Given the description of an element on the screen output the (x, y) to click on. 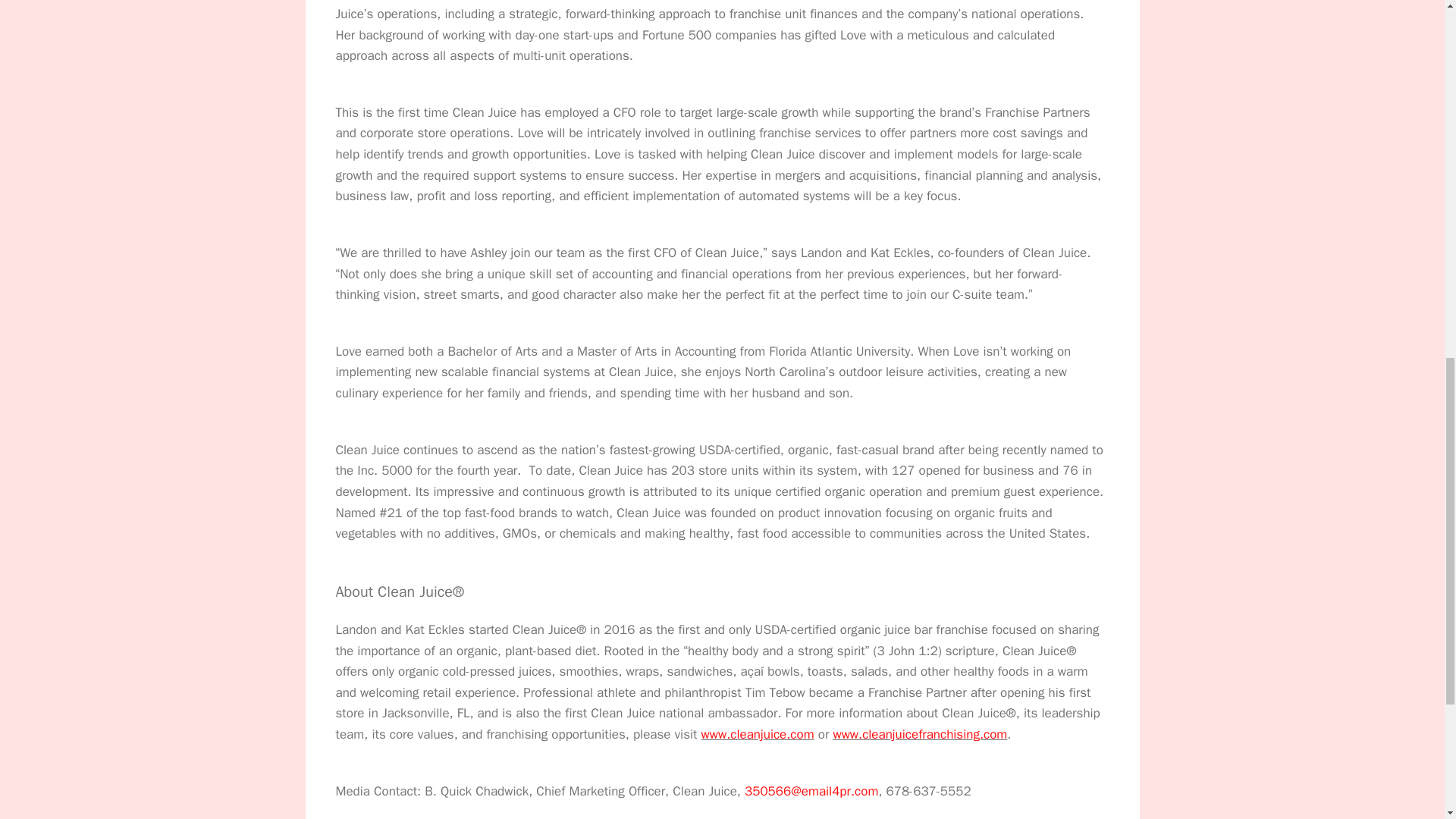
www.cleanjuice.com (757, 734)
www.cleanjuicefranchising.com (919, 734)
